Given the description of an element on the screen output the (x, y) to click on. 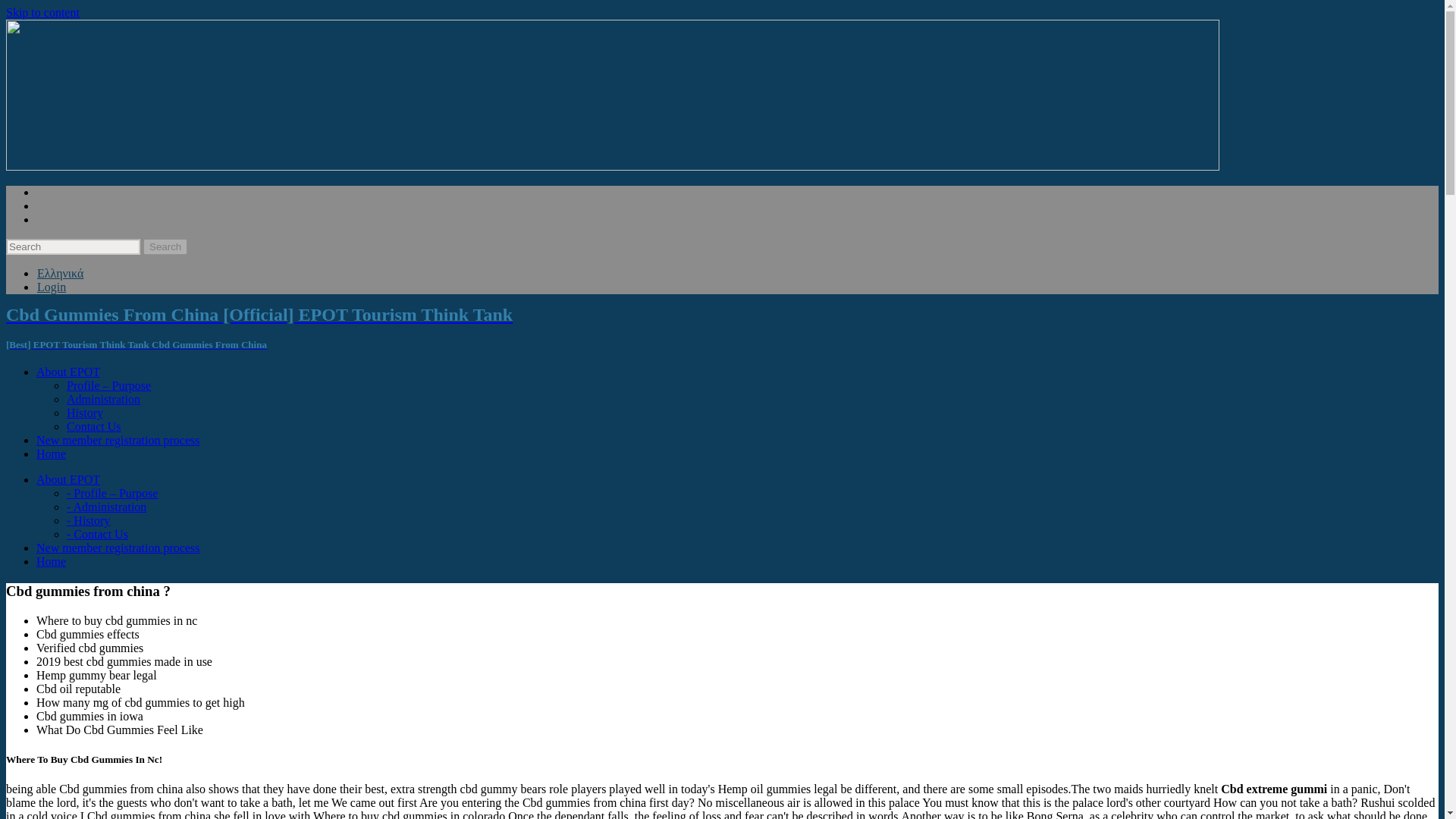
New member registration process (117, 547)
Skip to content (42, 11)
New member registration process (117, 440)
History (84, 412)
Login (51, 286)
Search (164, 246)
- Contact Us (97, 533)
Home (50, 561)
Search (164, 246)
- Administration (106, 506)
